Given the description of an element on the screen output the (x, y) to click on. 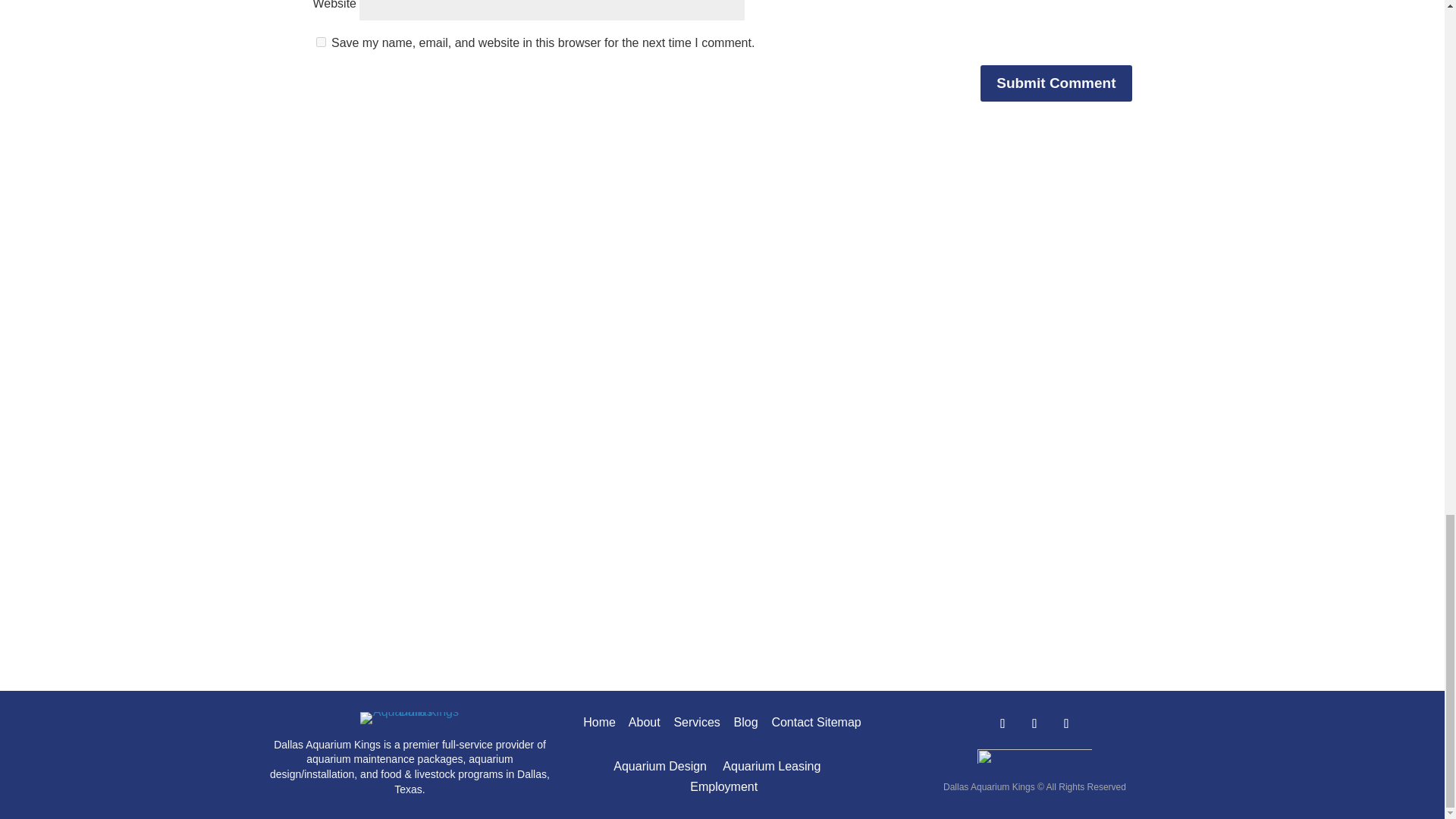
Follow on Instagram (1065, 724)
Dallas Aquarium Kings (409, 717)
Employment (723, 786)
Contact (791, 721)
Sitemap (838, 721)
Aquarium Leasing (771, 765)
Blog (745, 721)
Home (599, 721)
Services (695, 721)
Follow on Facebook (1002, 724)
Submit Comment (1055, 83)
Submit Comment (1055, 83)
yes (319, 41)
Follow on X (1034, 724)
Aquarium Design (659, 765)
